Given the description of an element on the screen output the (x, y) to click on. 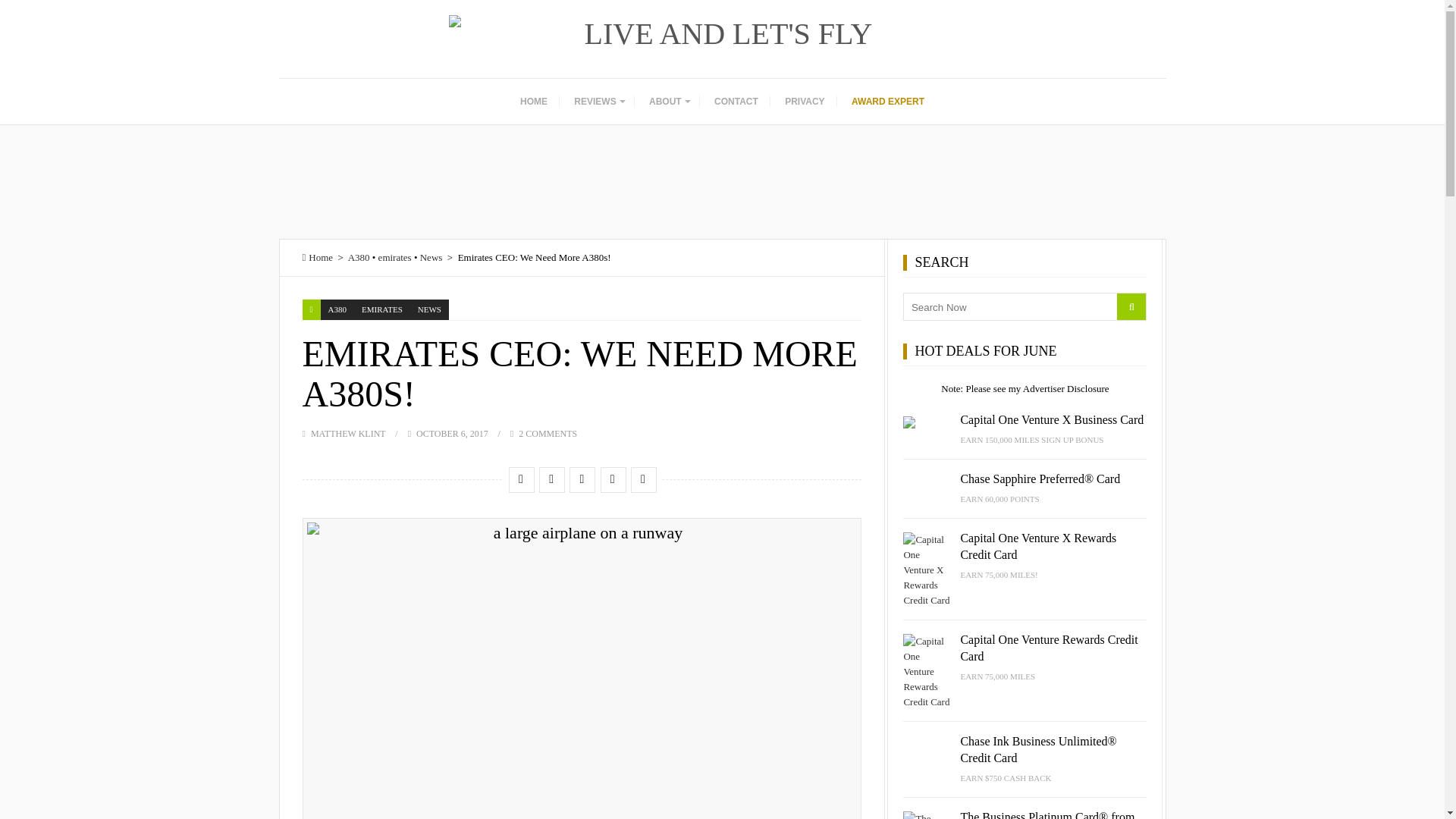
Home (317, 256)
AWARD EXPERT (888, 101)
A380 (358, 256)
MATTHEW KLINT (348, 433)
View all posts in emirates (381, 309)
ABOUT (668, 101)
OCTOBER 6, 2017 (451, 433)
News (431, 256)
CONTACT (735, 101)
Share on Twitter (550, 478)
